Given the description of an element on the screen output the (x, y) to click on. 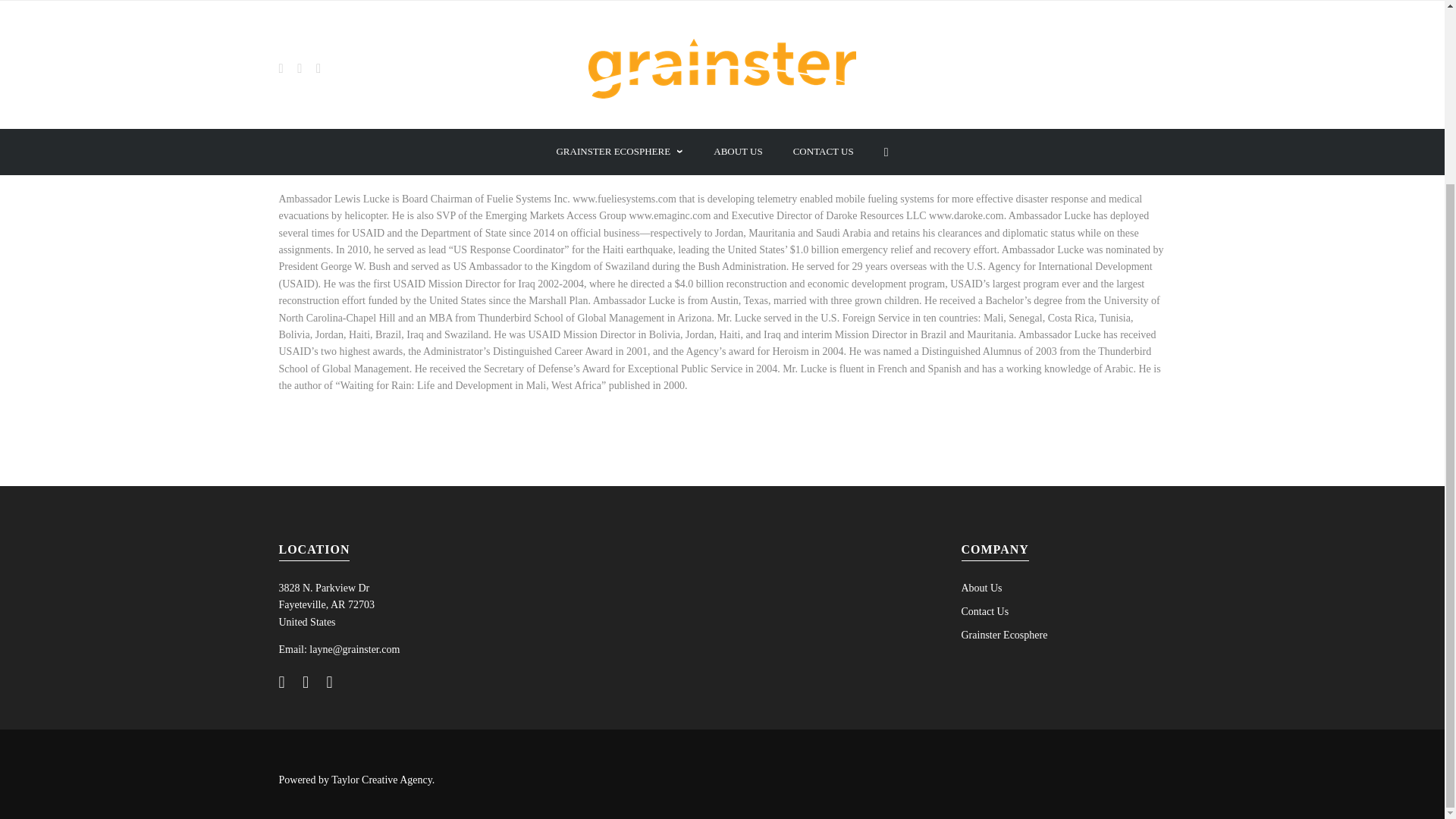
Ambassador Lewis Lucke (354, 69)
Contact Us (984, 384)
Taylor Creative Agency (381, 552)
About Us (981, 360)
Grainster Ecosphere (1004, 408)
